Given the description of an element on the screen output the (x, y) to click on. 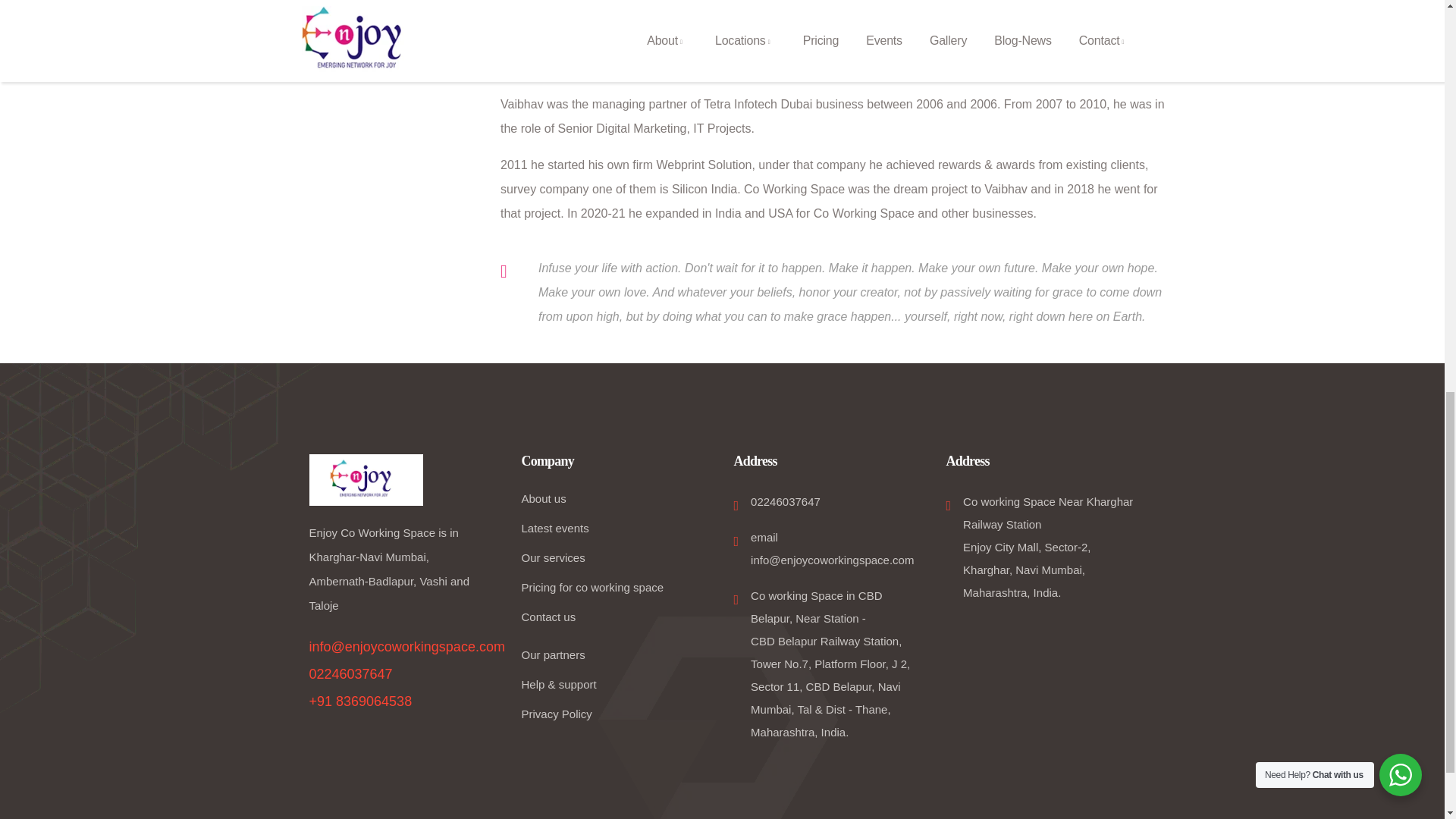
Home (365, 480)
